Given the description of an element on the screen output the (x, y) to click on. 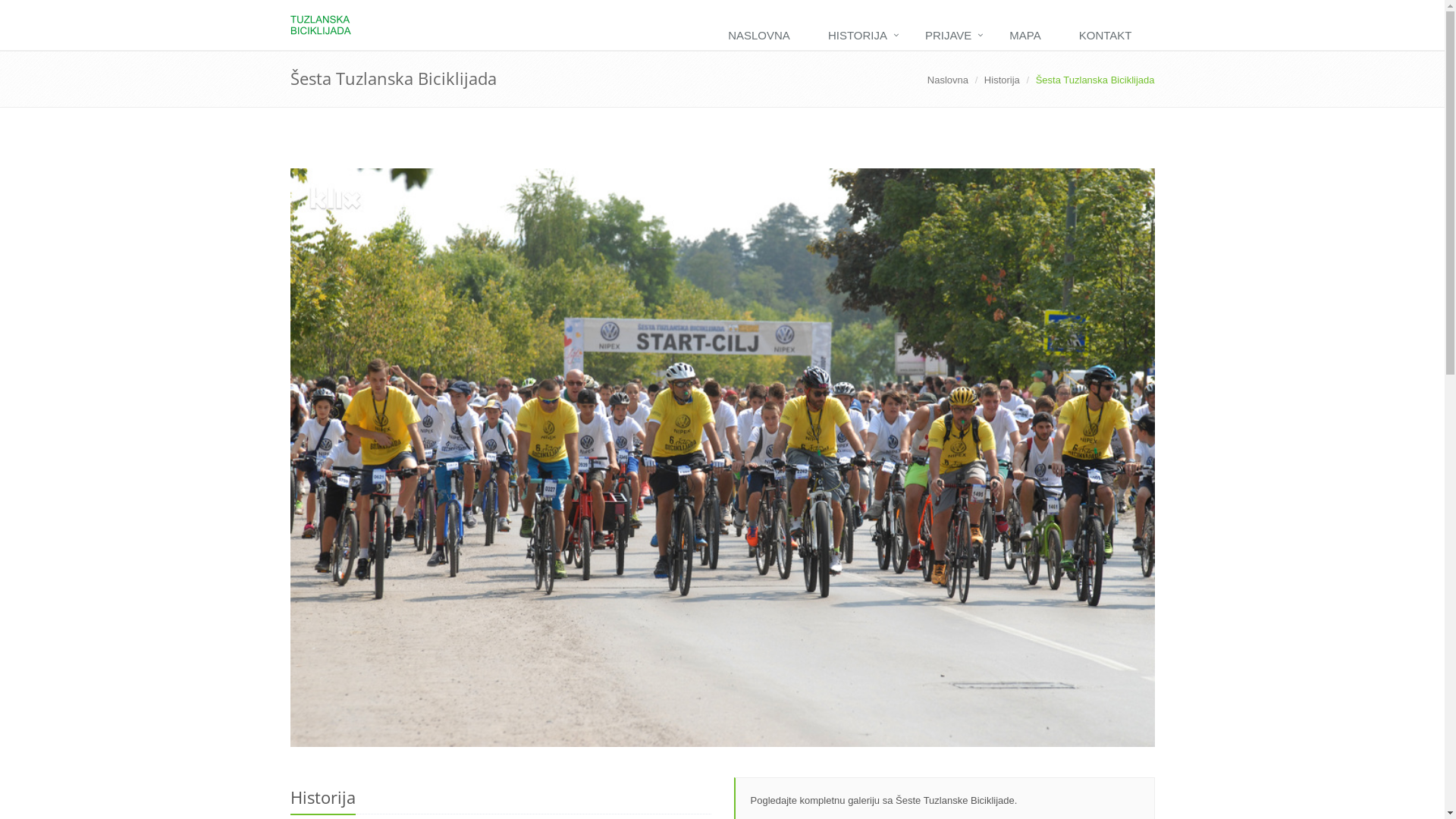
Naslovna Element type: text (947, 79)
Historija Element type: text (1001, 79)
MAPA Element type: text (1028, 36)
NASLOVNA Element type: text (762, 36)
HISTORIJA Element type: text (861, 36)
PRIJAVE Element type: text (952, 36)
KONTAKT Element type: text (1108, 36)
